Given the description of an element on the screen output the (x, y) to click on. 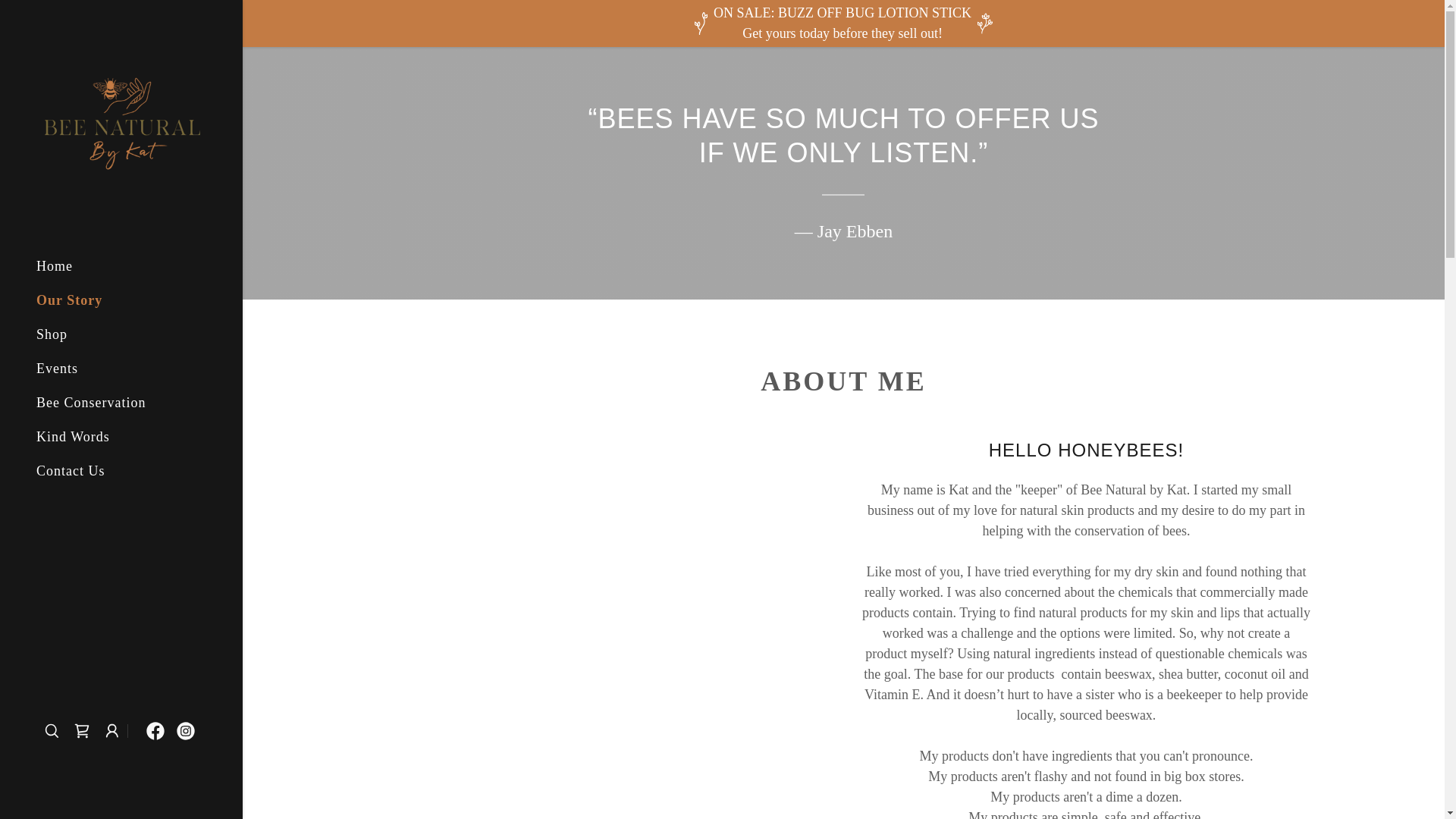
Events (57, 368)
Bee Conservation (90, 402)
Our Story (68, 299)
Shop (51, 334)
Home (54, 265)
Kind Words (73, 436)
Contact Us (70, 470)
